Given the description of an element on the screen output the (x, y) to click on. 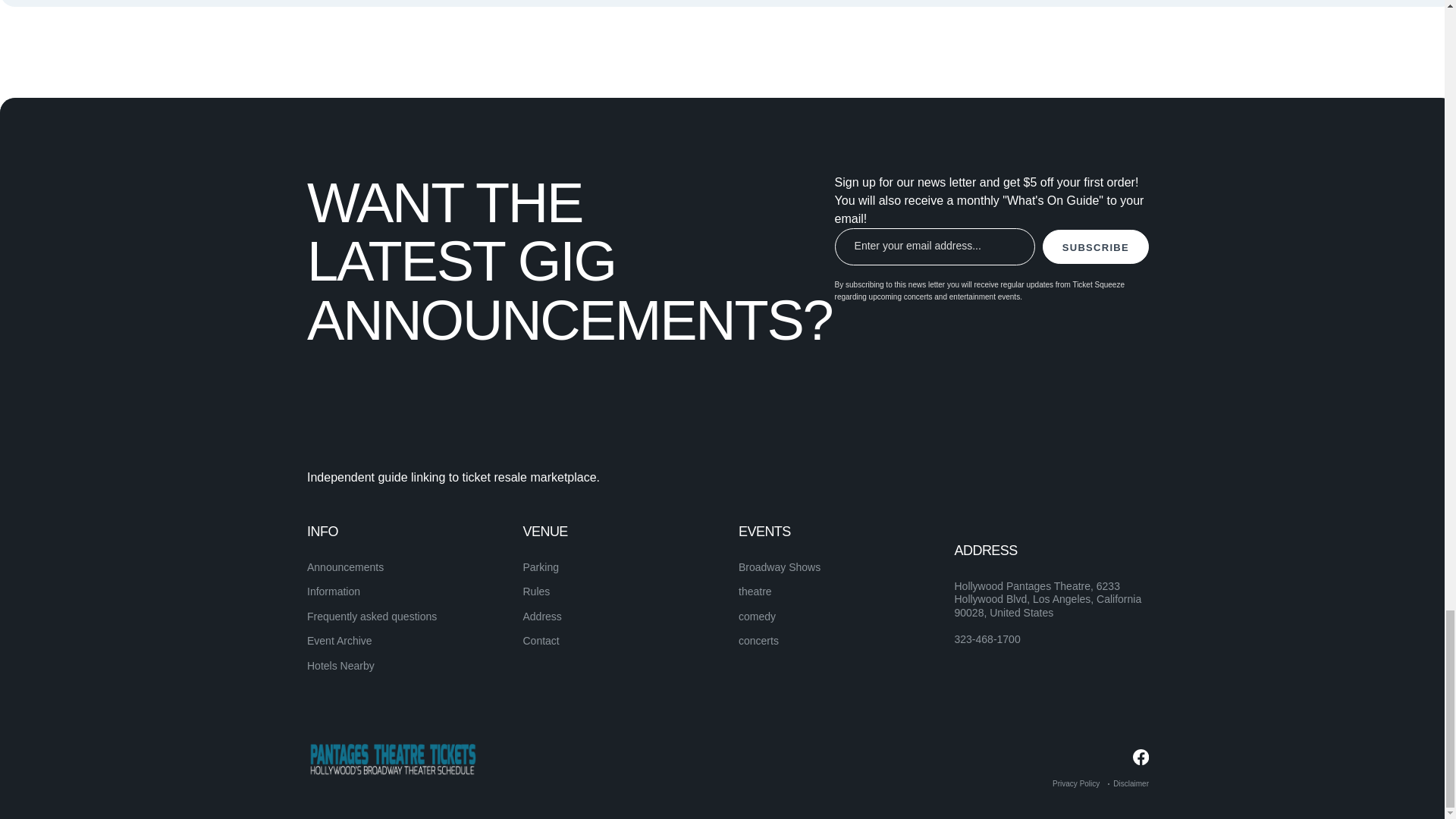
concerts (758, 640)
Hotels Nearby (340, 665)
Rules (536, 591)
SUBSCRIBE (1095, 246)
Frequently asked questions (371, 616)
Contact (540, 640)
Event Archive (339, 640)
Parking (540, 567)
Announcements (345, 567)
Information (333, 591)
323-468-1700 (986, 640)
Privacy Policy (1075, 783)
comedy (757, 616)
Disclaimer (1130, 783)
theatre (754, 591)
